Given the description of an element on the screen output the (x, y) to click on. 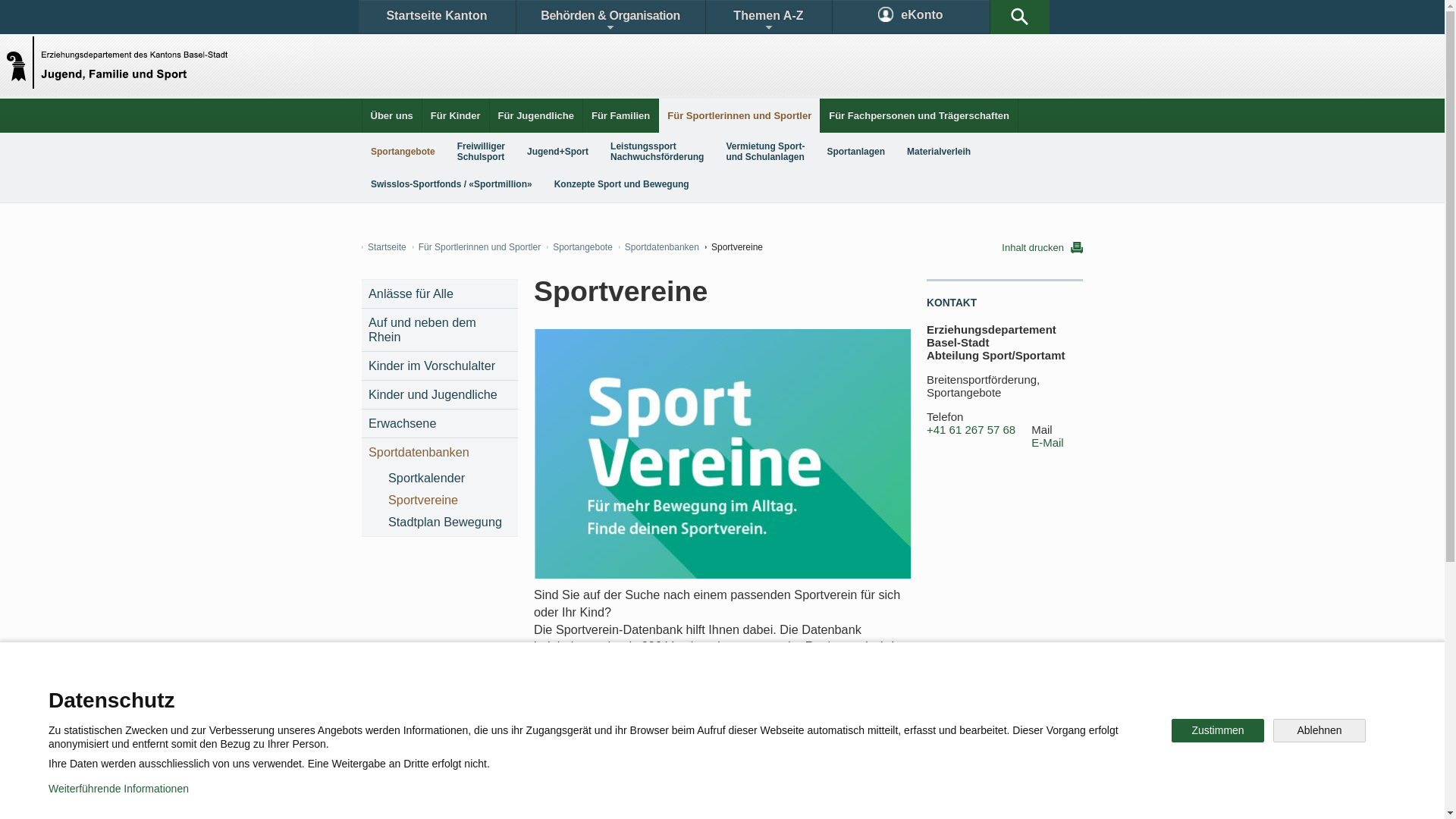
Facebook Element type: text (547, 746)
Kontakt Element type: text (406, 693)
Themen A-Z Element type: text (768, 17)
Publikationen Element type: text (795, 693)
Freiwilliger
Schulsport Element type: text (481, 150)
Inhalt drucken Element type: text (1041, 247)
Ablehnen Element type: text (1319, 730)
Vermietung Sport-
und Schulanlagen Element type: text (764, 150)
Kinder und Jugendliche Element type: text (439, 394)
Gesetze Element type: text (597, 693)
Kinder im Vorschulalter Element type: text (439, 365)
Bild & Multimedia Element type: text (908, 693)
Sportdatenbanken Element type: text (439, 452)
Sportangebote Element type: text (402, 150)
Erwachsene Element type: text (439, 423)
Zustimmen Element type: text (1217, 730)
Konzepte Sport und Bewegung Element type: text (621, 183)
Sportverein-Datenbank Element type: text (602, 694)
+41 61 267 57 68 Element type: text (970, 429)
E-Mail Element type: text (1047, 442)
Statistiken Element type: text (687, 693)
Sportanlagen Element type: text (855, 150)
Auf und neben dem Rhein Element type: text (439, 329)
eKonto Element type: text (910, 17)
Nutzungsregelungen Element type: text (542, 796)
Startseite Kanton Element type: text (435, 17)
Materialverleih Element type: text (938, 150)
Sportangebote Element type: text (579, 246)
Jugend+Sport Element type: text (557, 150)
Stadtplan Bewegung Element type: text (449, 522)
Impressum Element type: text (648, 796)
sportangebote@bs.ch Element type: text (593, 792)
Sportdatenbanken Element type: text (658, 246)
Startseite Element type: text (383, 246)
Zur mobilen Ansicht Element type: text (752, 796)
Stadtplan & Karte Element type: text (504, 693)
Sportkalender Element type: text (449, 478)
Instagram Element type: text (738, 746)
Twitter Element type: text (642, 746)
